Given the description of an element on the screen output the (x, y) to click on. 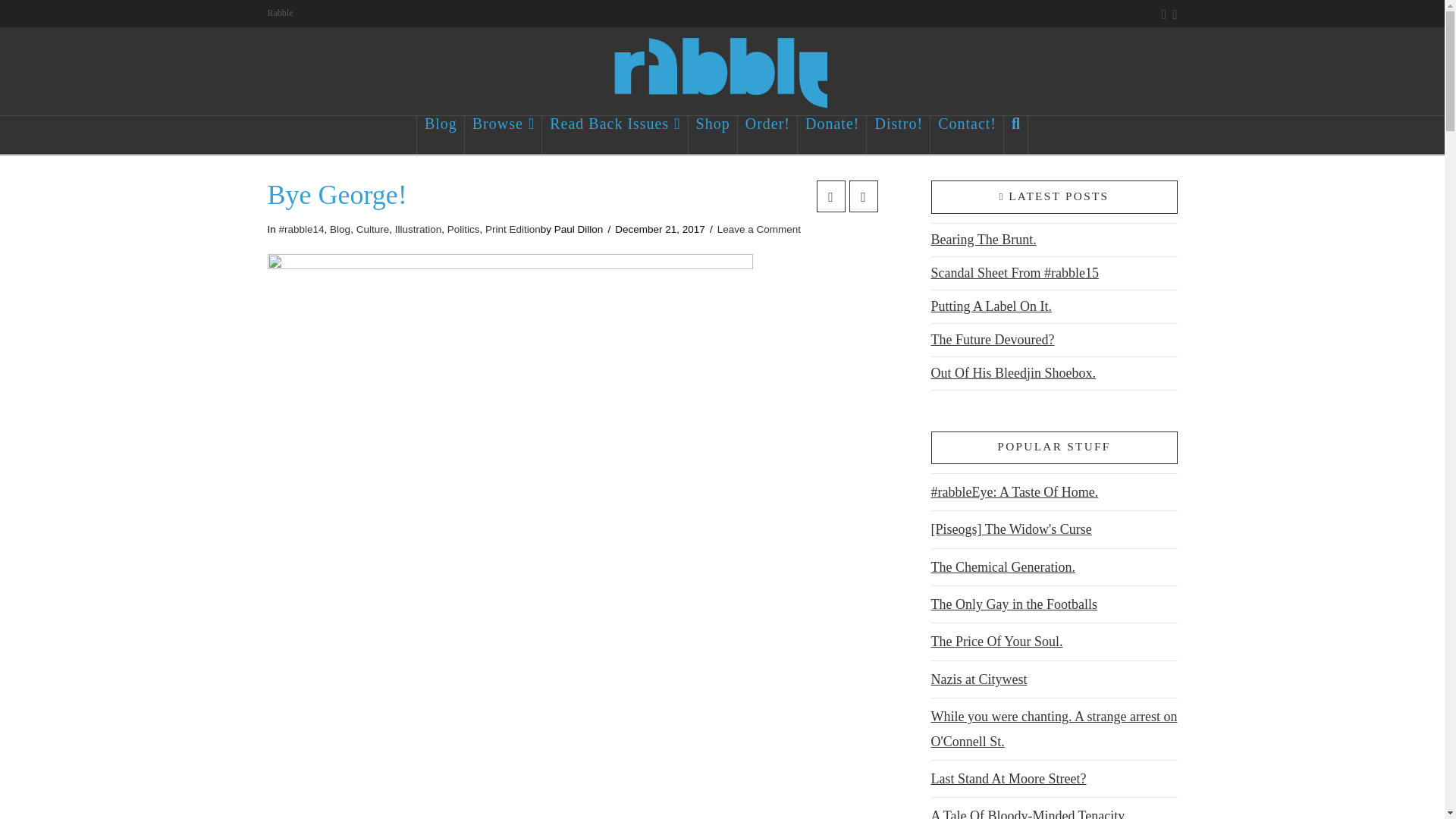
Contact! (967, 134)
Shop (713, 134)
Read Back Issues (614, 134)
Order! (767, 134)
Blog (440, 134)
Browse (502, 134)
Donate! (831, 134)
Distro! (898, 134)
